Given the description of an element on the screen output the (x, y) to click on. 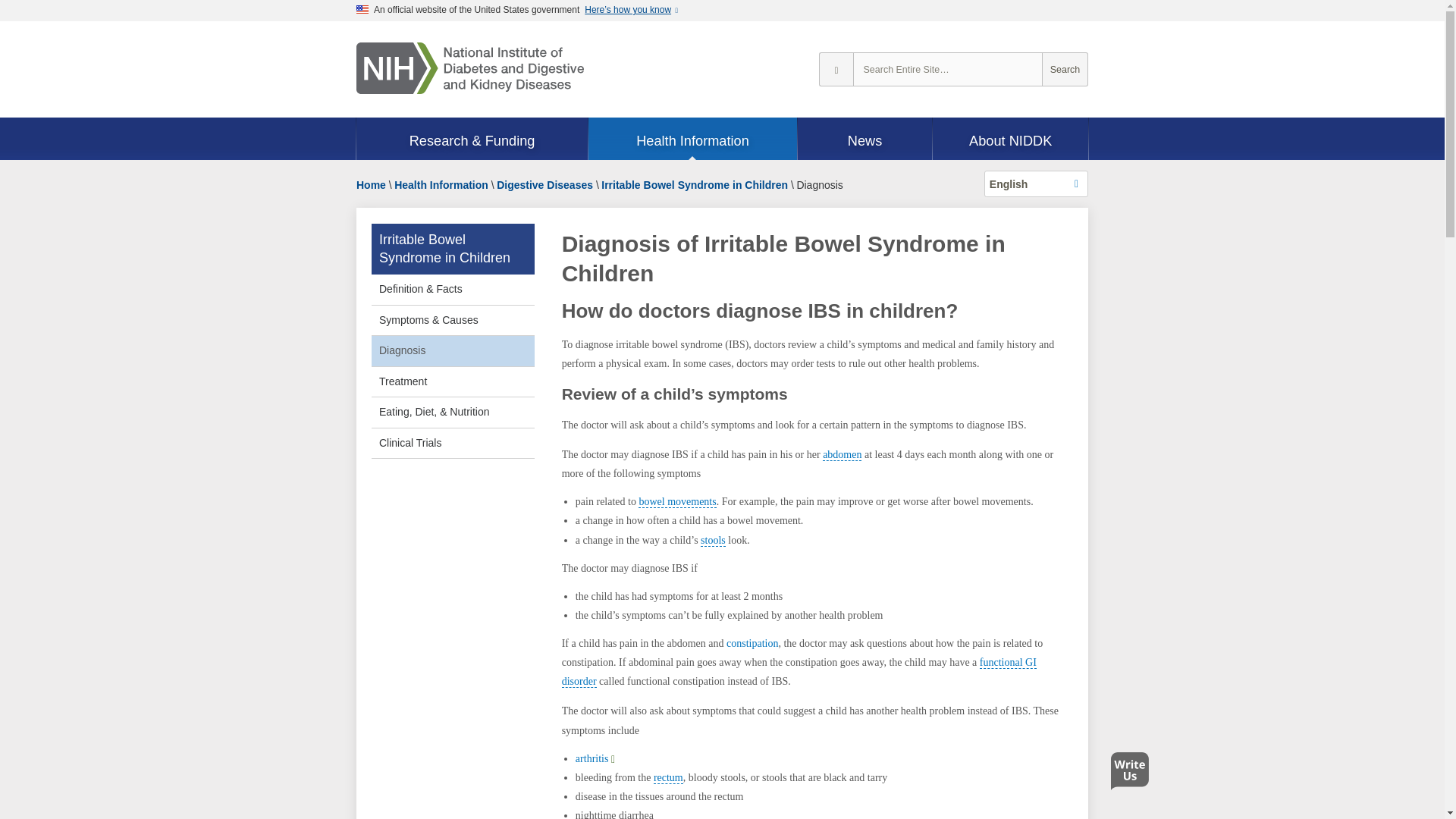
Health Information (692, 139)
Show alternate languages for this page (1035, 183)
Change search scope (835, 69)
Search Entire Site (1064, 69)
Write us (1133, 774)
Search (1064, 69)
News (865, 139)
